Given the description of an element on the screen output the (x, y) to click on. 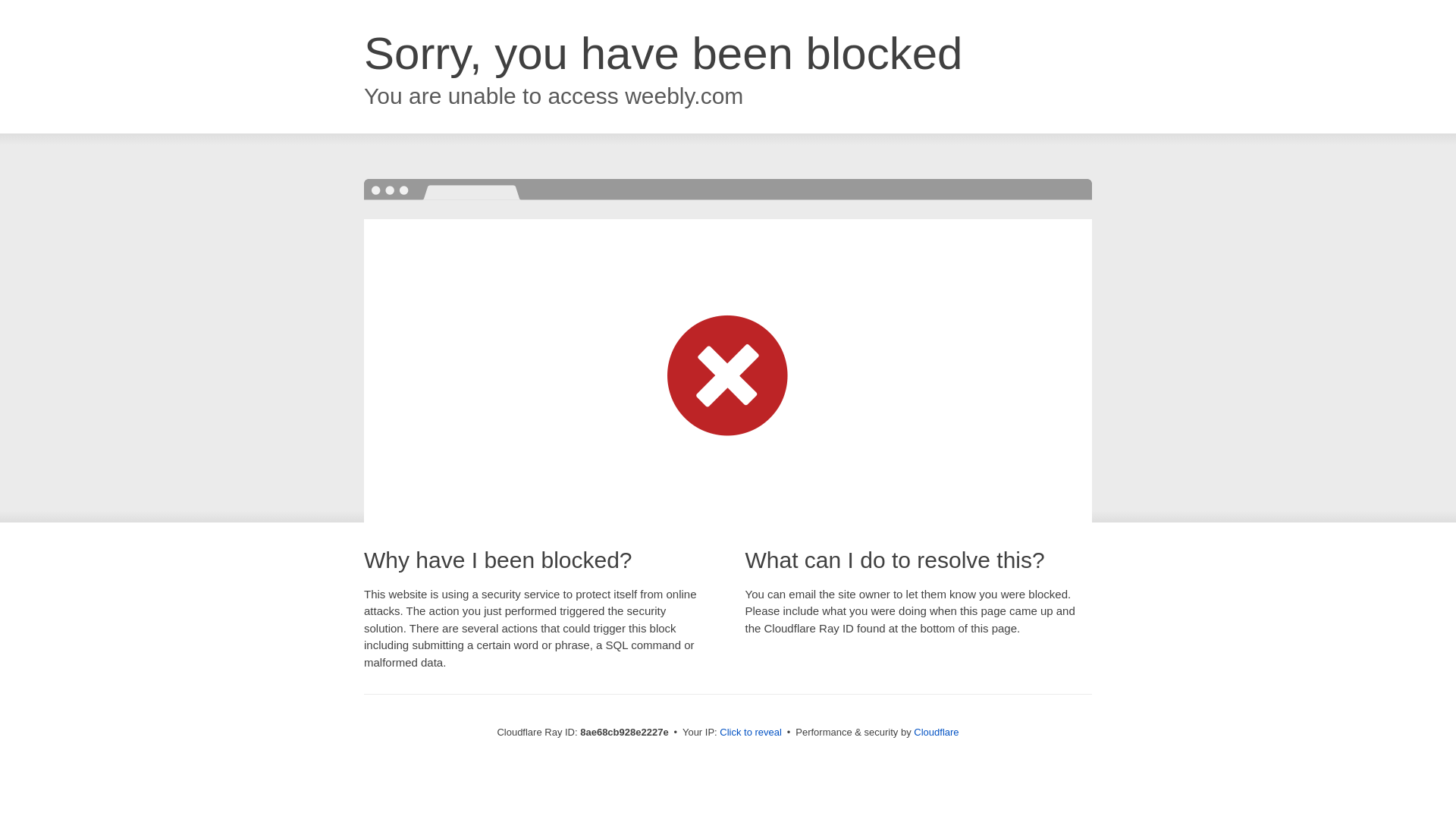
Click to reveal (750, 732)
Cloudflare (936, 731)
